Given the description of an element on the screen output the (x, y) to click on. 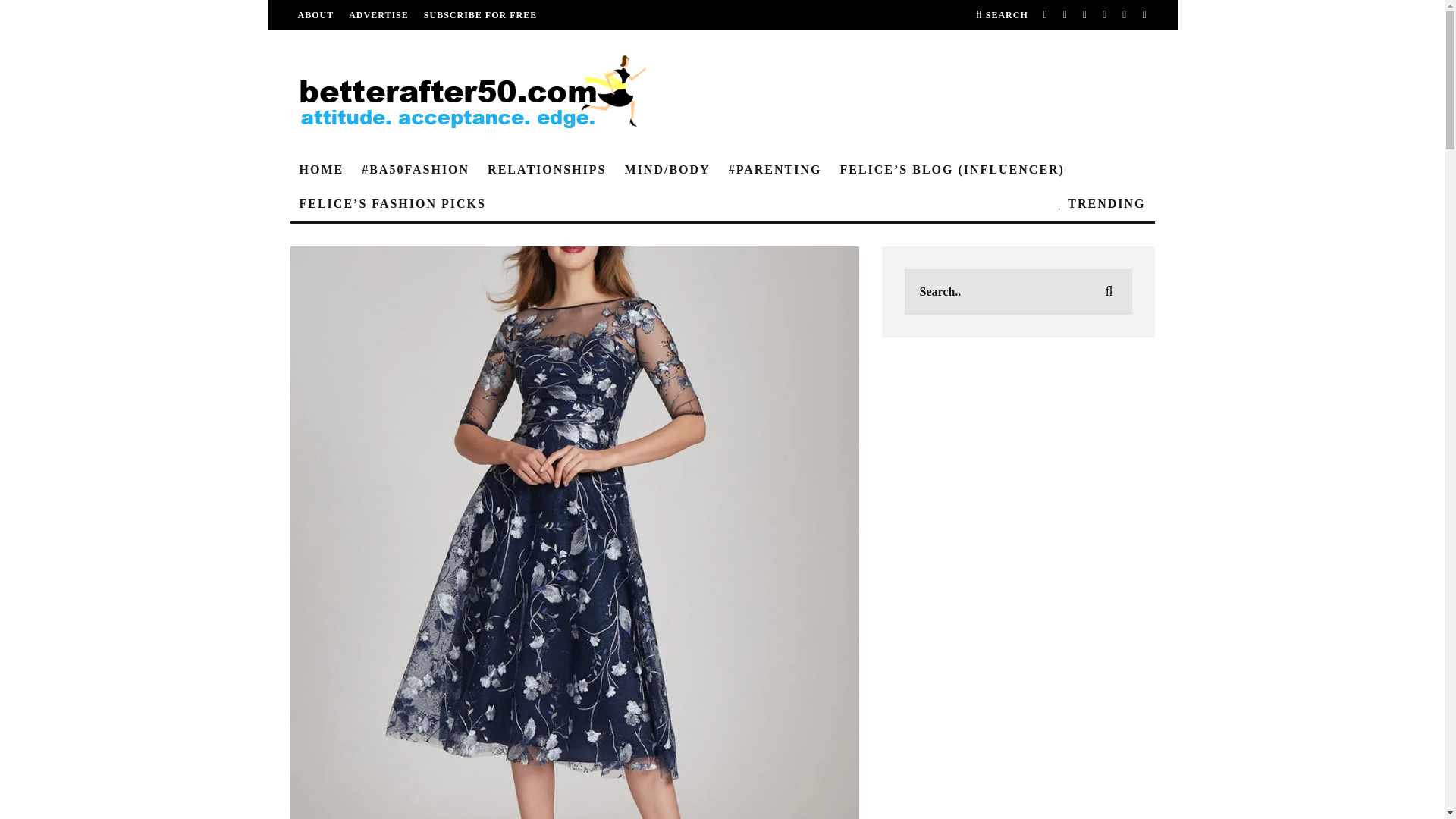
RELATIONSHIPS (546, 170)
HOME (320, 170)
ABOUT (315, 15)
ADVERTISE (379, 15)
SEARCH (1001, 15)
Search (1001, 15)
SUBSCRIBE FOR FREE (480, 15)
